Given the description of an element on the screen output the (x, y) to click on. 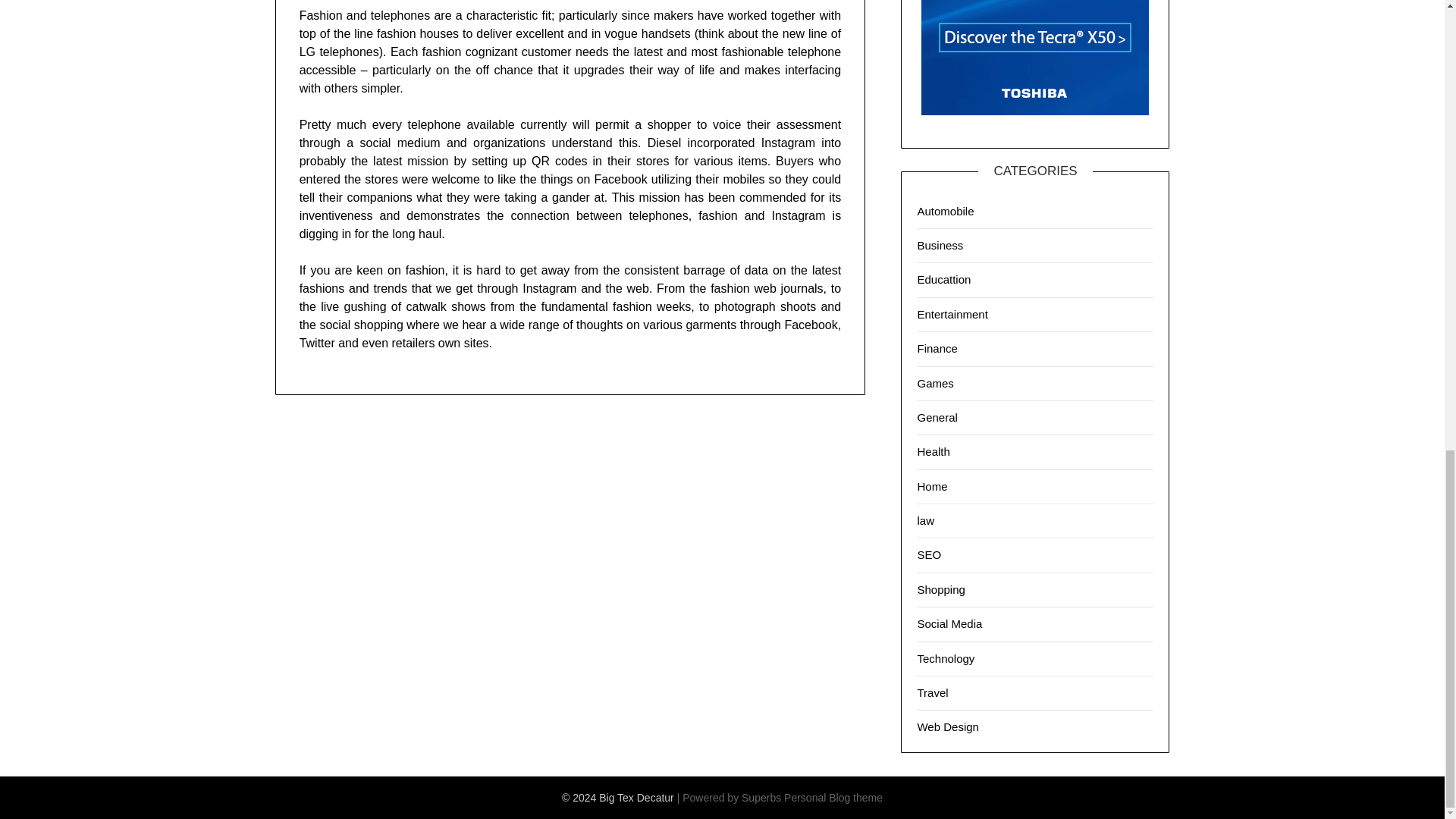
Health (933, 451)
Web Design (947, 726)
Travel (932, 692)
law (925, 520)
Social Media (949, 623)
Home (932, 486)
Business (939, 245)
Entertainment (952, 314)
Technology (945, 658)
Finance (936, 348)
Educattion (944, 278)
Automobile (945, 210)
Shopping (940, 589)
SEO (928, 554)
Personal Blog theme (833, 797)
